Given the description of an element on the screen output the (x, y) to click on. 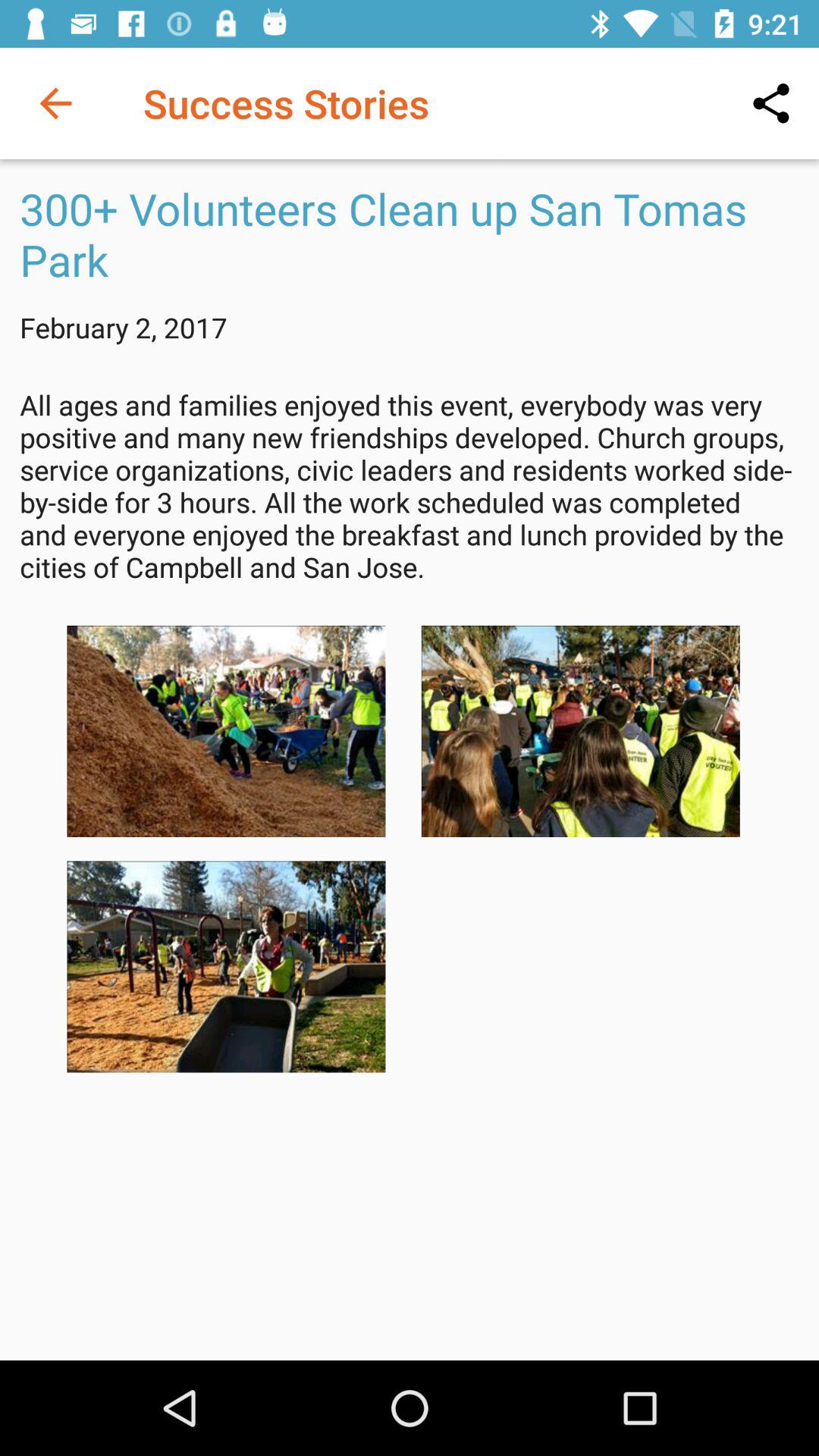
press icon to the left of success stories (55, 103)
